Given the description of an element on the screen output the (x, y) to click on. 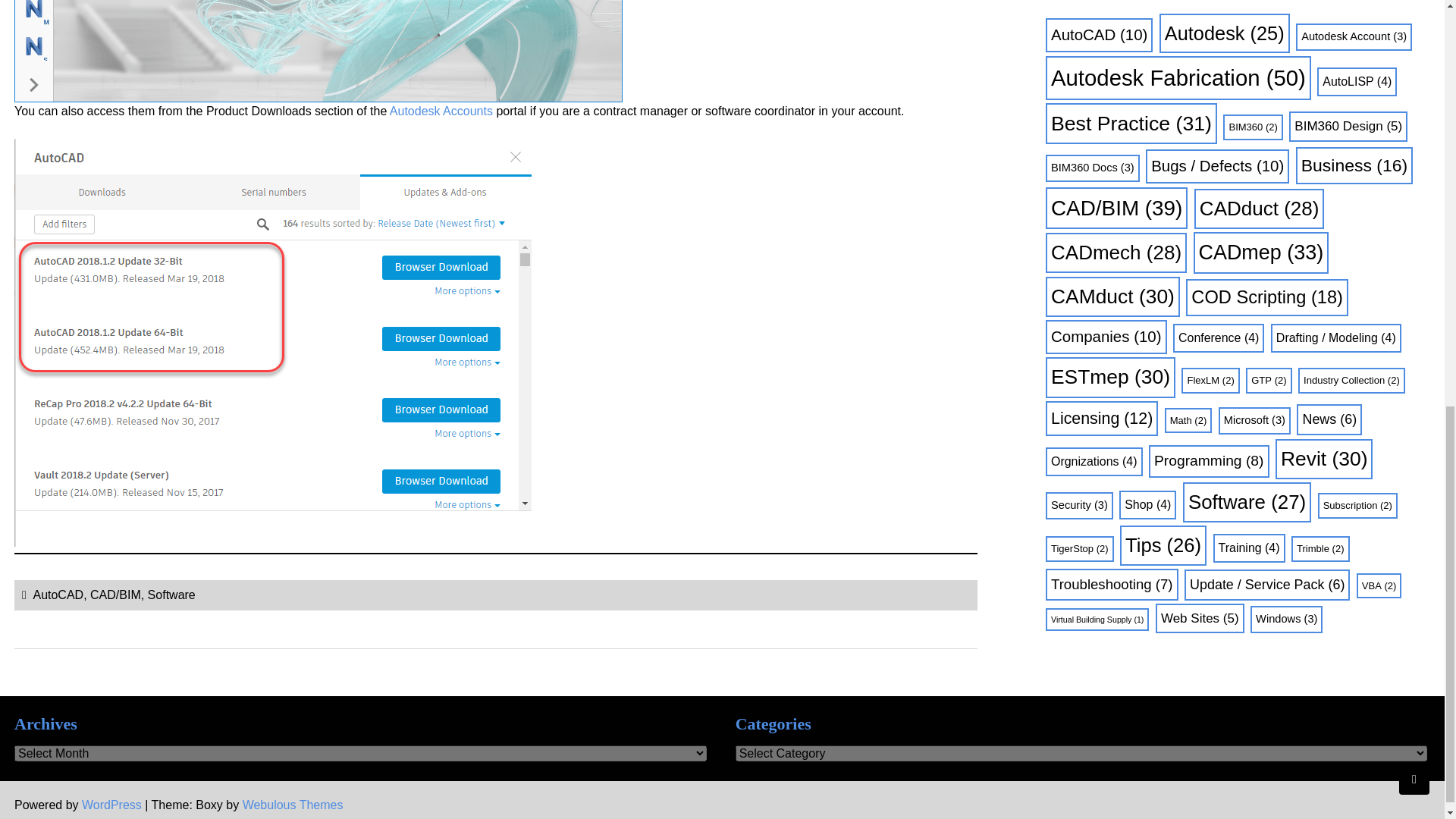
Autodesk Accounts (441, 110)
AutoCAD (57, 594)
Software (171, 594)
